Given the description of an element on the screen output the (x, y) to click on. 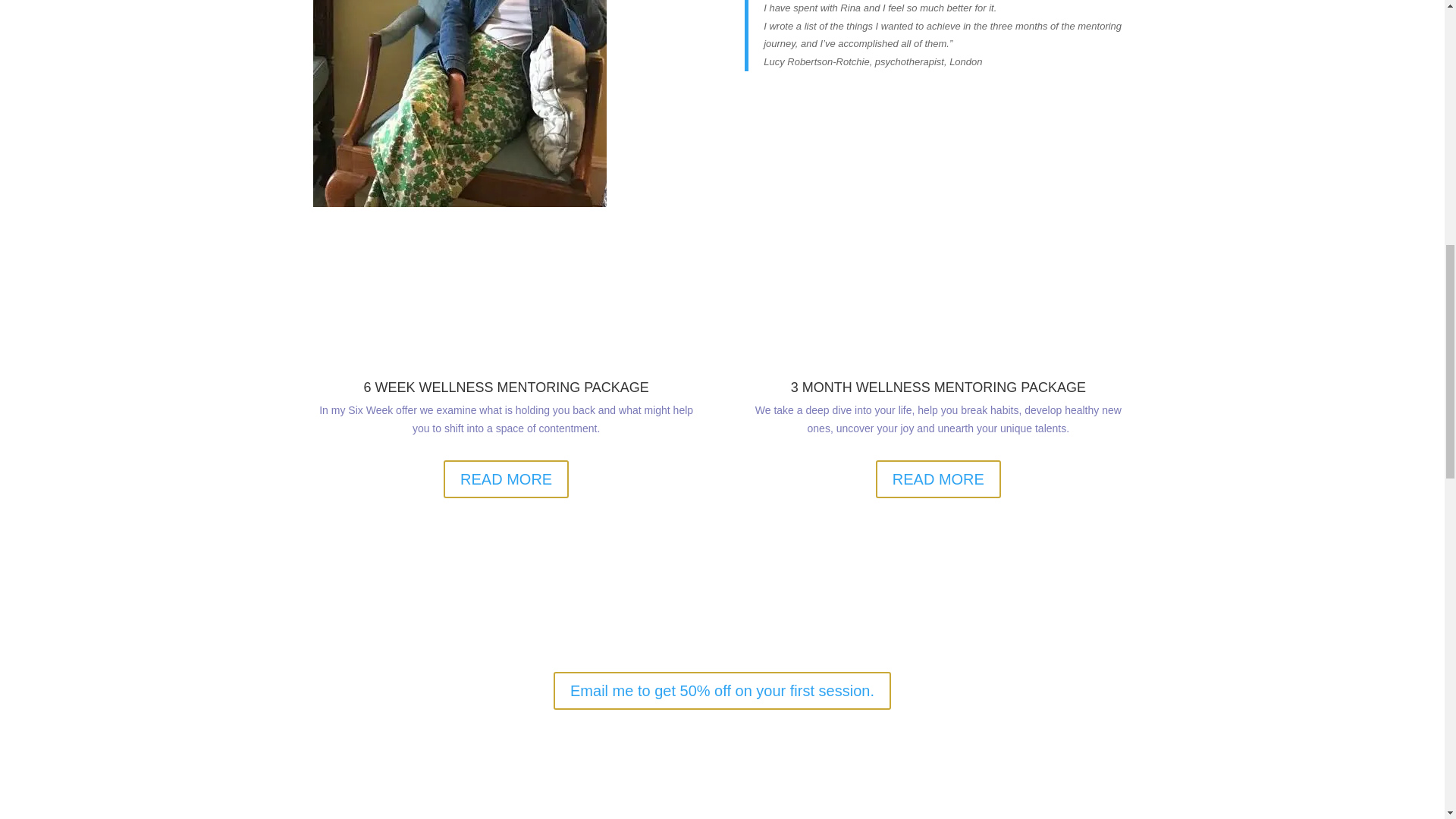
Mentoring (459, 103)
READ MORE (938, 478)
READ MORE (506, 478)
